Given the description of an element on the screen output the (x, y) to click on. 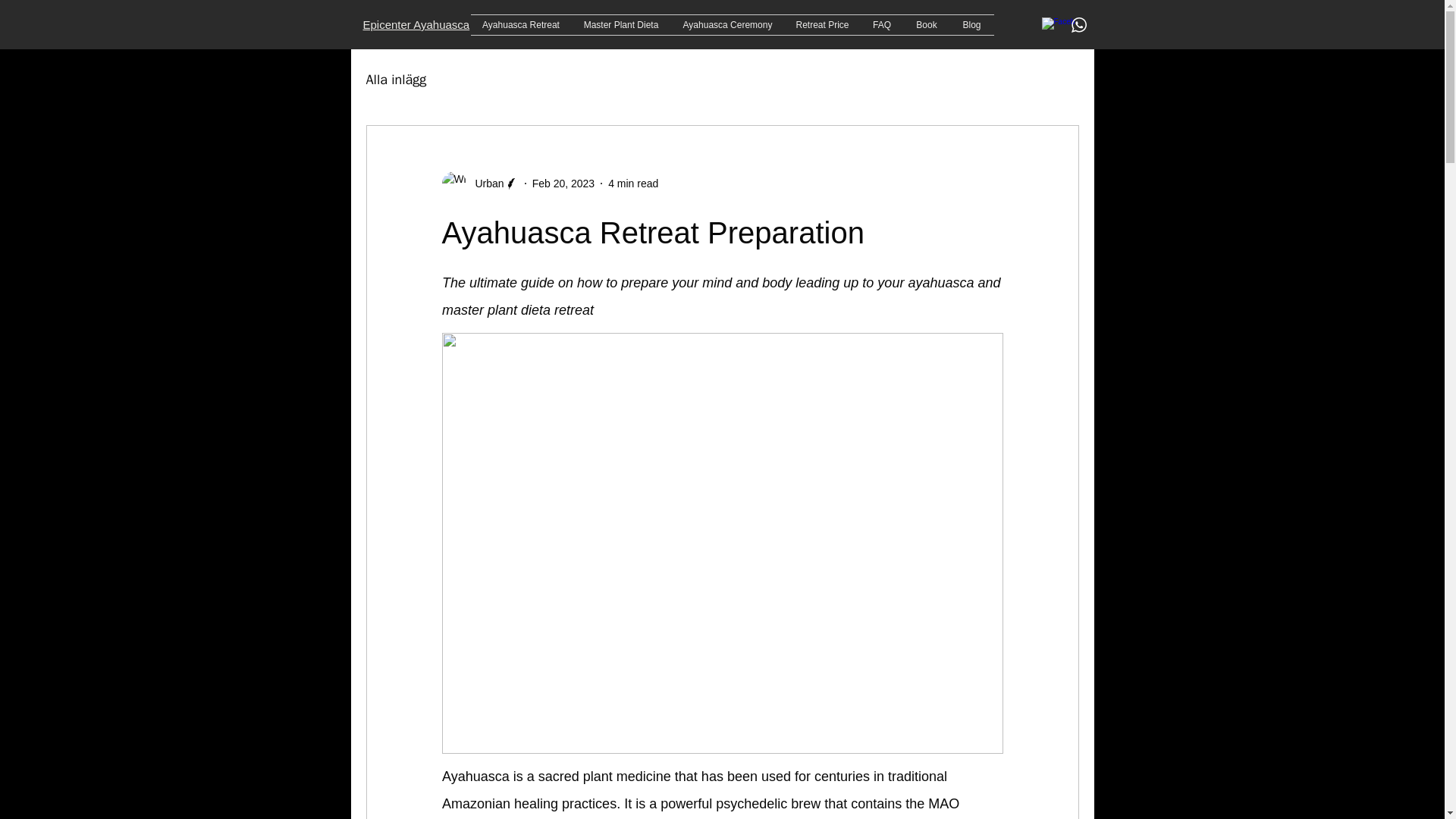
Master Plant Dieta (621, 25)
Retreat Price (822, 25)
Ayahuasca Retreat (520, 25)
Ayahuasca Ceremony (726, 25)
Urban (479, 183)
Urban (484, 183)
Epicenter Ayahuasca (415, 24)
FAQ (881, 25)
Blog (970, 25)
Feb 20, 2023 (563, 183)
